Given the description of an element on the screen output the (x, y) to click on. 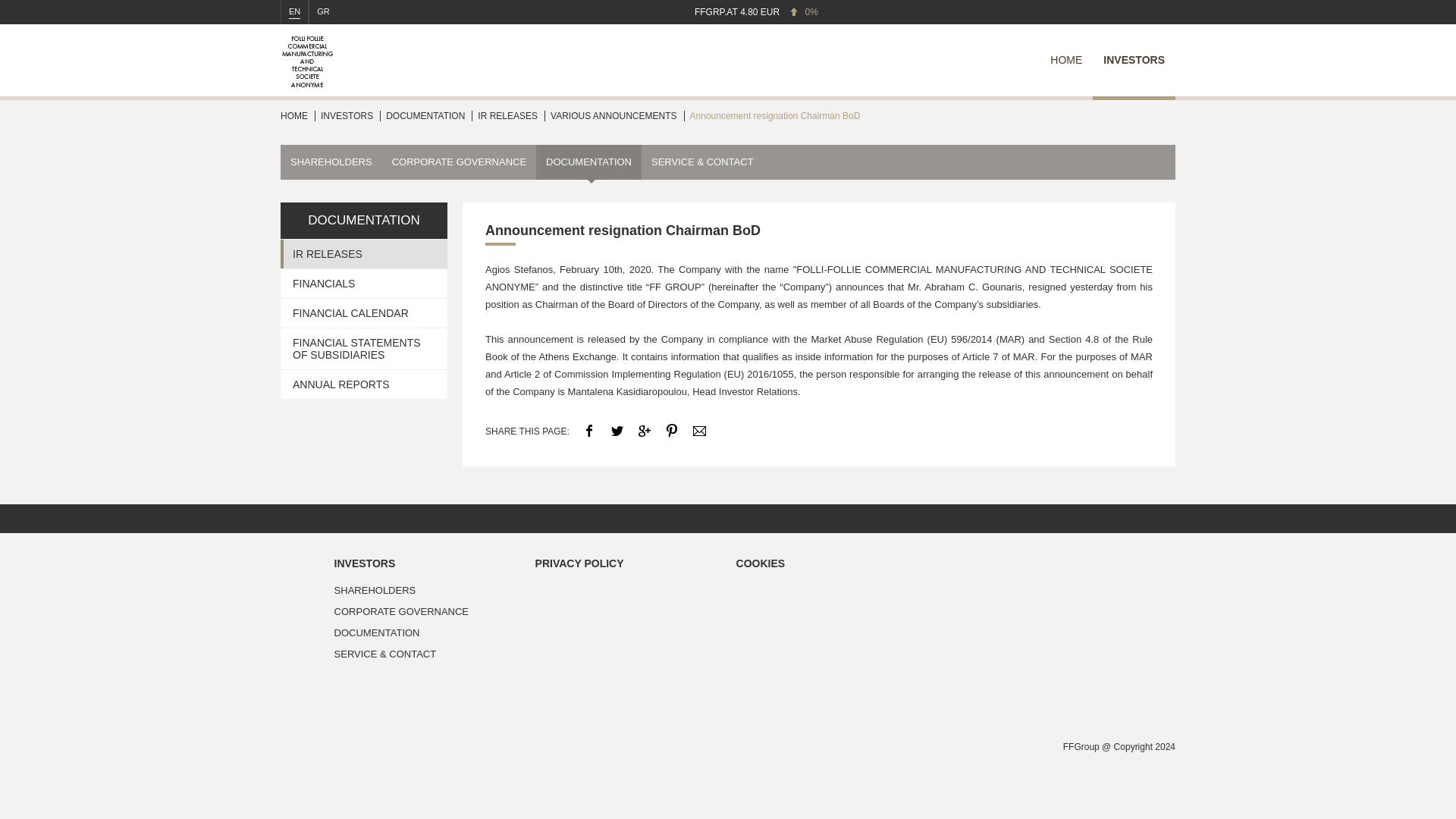
INVESTORS (426, 563)
DOCUMENTATION (426, 632)
FINANCIALS (363, 283)
FINANCIAL STATEMENTS OF SUBSIDIARIES (363, 348)
ANNUAL REPORTS (363, 384)
IR RELEASES (507, 116)
VARIOUS ANNOUNCEMENTS (613, 116)
EN (294, 12)
HOME (294, 116)
DOCUMENTATION (363, 220)
